Given the description of an element on the screen output the (x, y) to click on. 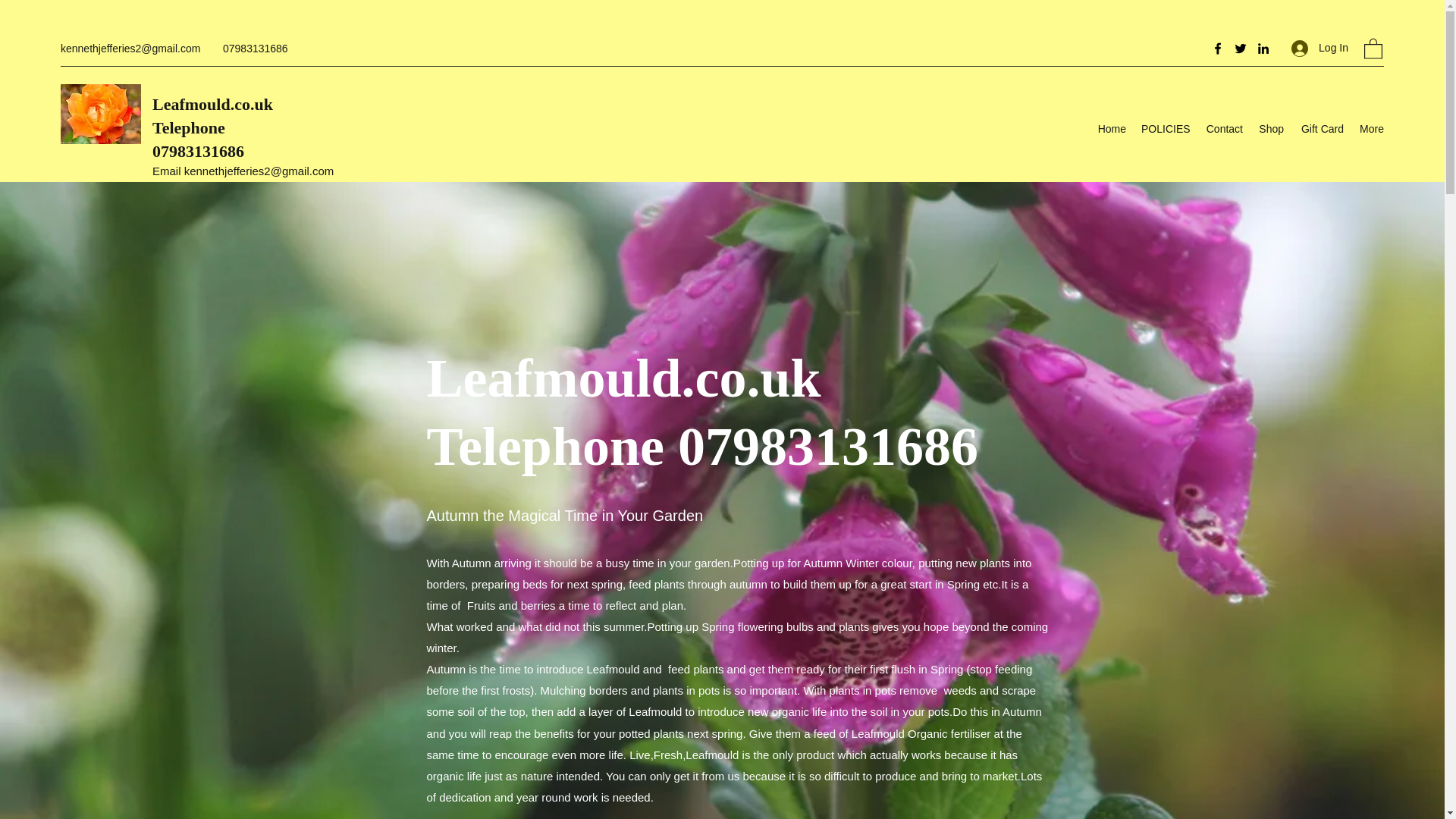
Gift Card (1321, 128)
POLICIES (1164, 128)
Home (1111, 128)
Contact (1222, 128)
Log In (1319, 48)
Shop (1270, 128)
